Given the description of an element on the screen output the (x, y) to click on. 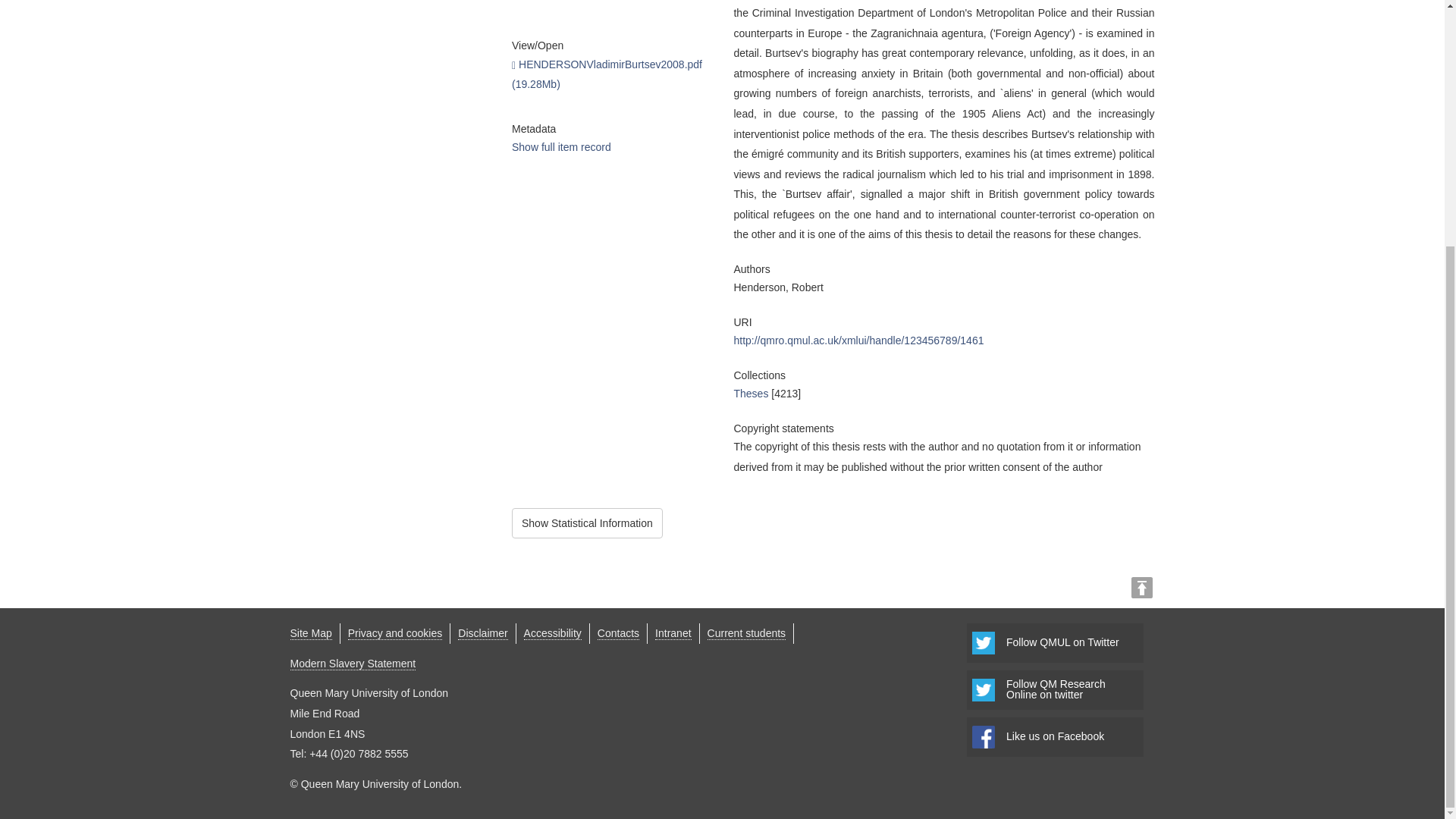
Disability and accessibility statement (552, 633)
Show full item record (561, 146)
Disclaimer (482, 633)
Disclaimer (1054, 690)
Privacy and cookies (482, 633)
Follow QMUL on Twitter (394, 633)
Show Statistical Information (1054, 642)
Site Map (587, 522)
Theses (310, 633)
Contact details for general enquiries (750, 393)
Like us on Facebook (617, 633)
Privacy and data protection statement (1054, 736)
Detailed site map (394, 633)
